Given the description of an element on the screen output the (x, y) to click on. 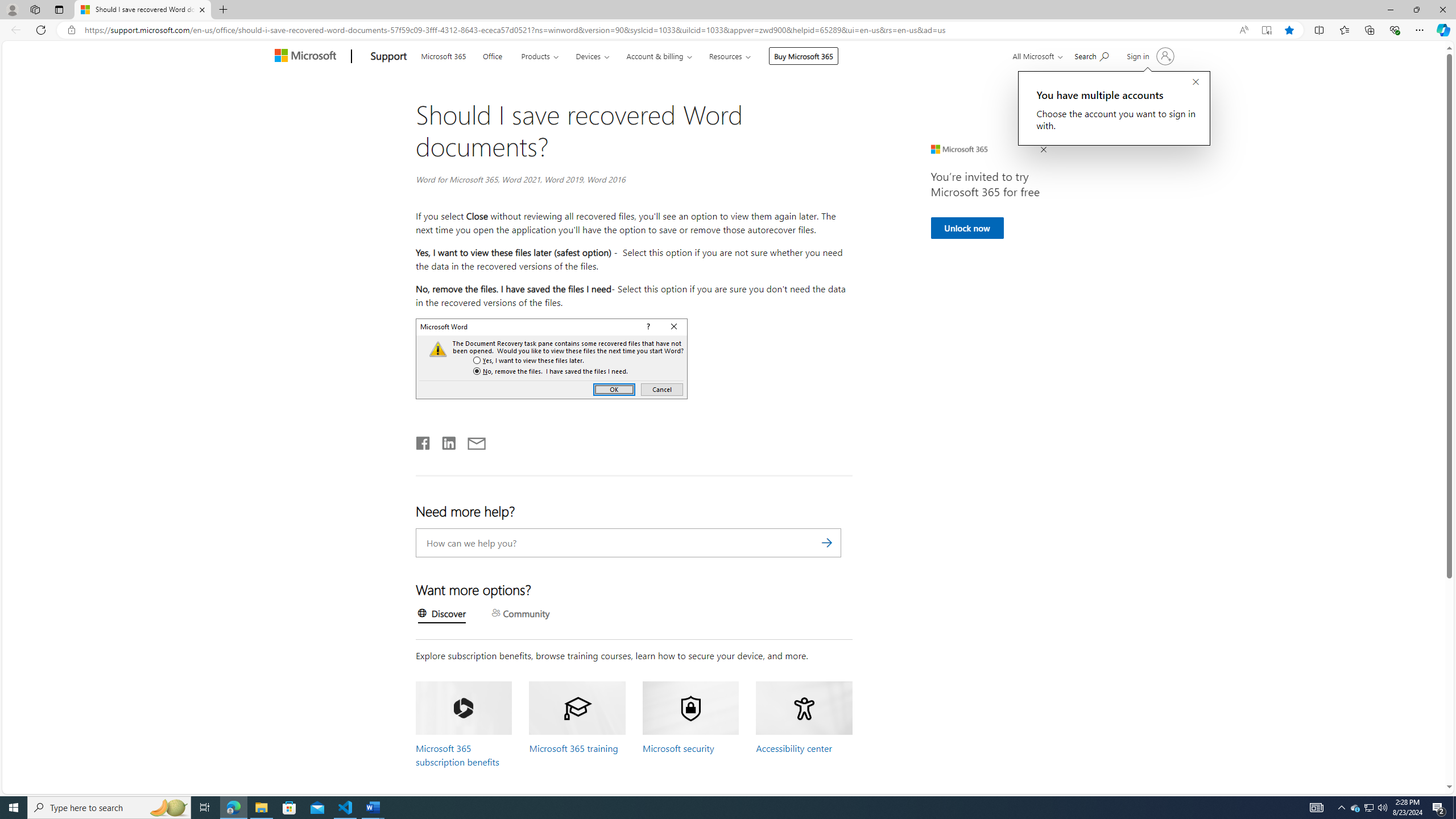
Close Ad (1043, 149)
Workspaces (34, 9)
Microsoft security (678, 748)
Facebook (422, 441)
Email (476, 441)
Favorites (1344, 29)
Microsoft 365 training (573, 748)
Settings and more (Alt+F) (1419, 29)
View site information (70, 29)
Copilot (Ctrl+Shift+.) (1442, 29)
Office (491, 54)
Buy Microsoft 365 (803, 55)
Buy Microsoft 365 (803, 55)
Microsoft 365 subscription benefits (457, 755)
